Given the description of an element on the screen output the (x, y) to click on. 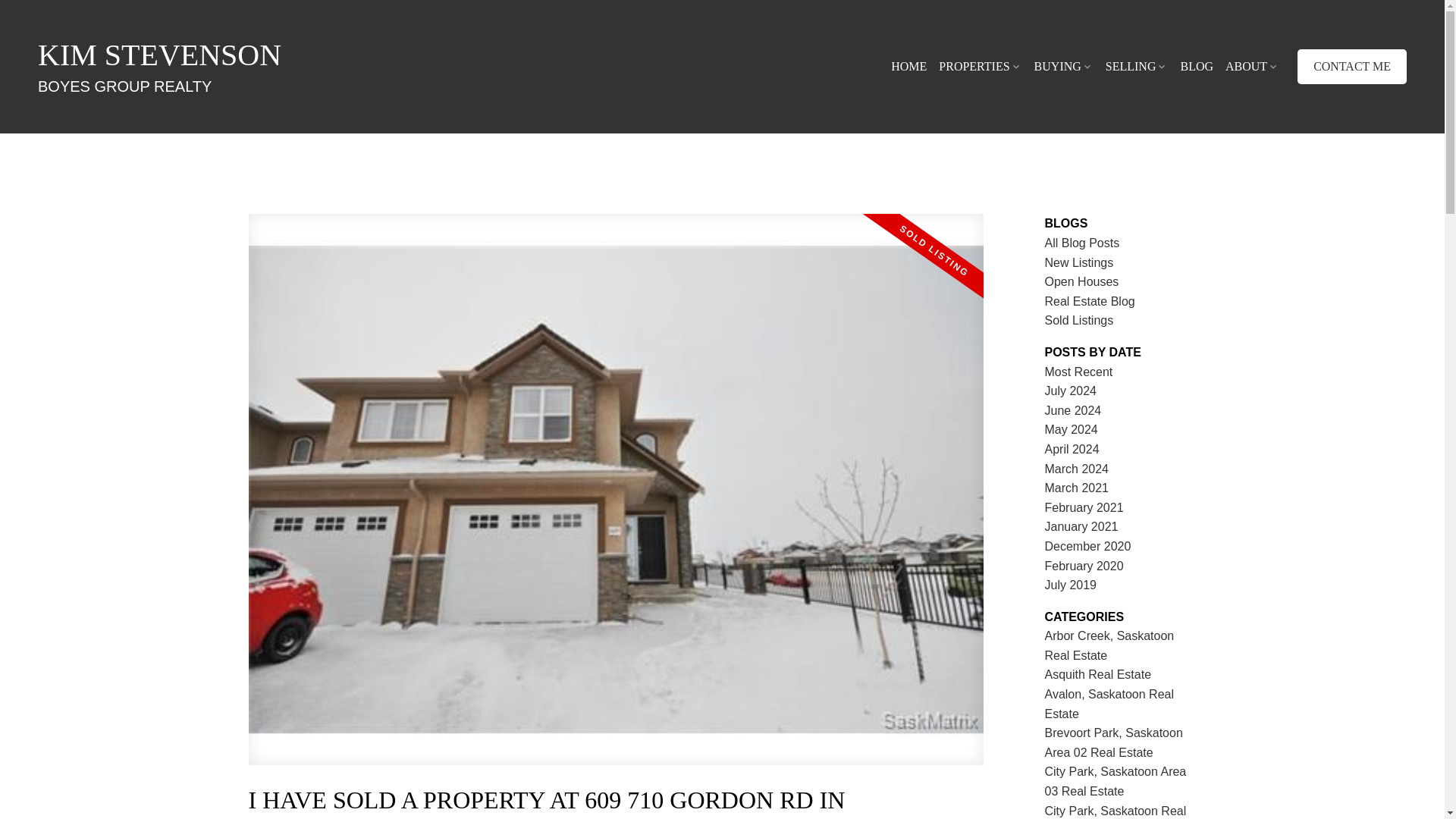
February 2021 (1084, 507)
March 2021 (1077, 487)
March 2024 (304, 66)
May 2024 (1077, 468)
Open Houses (1071, 429)
HOME (1082, 281)
June 2024 (908, 66)
December 2020 (1073, 410)
CONTACT ME (1088, 545)
April 2024 (1351, 66)
January 2021 (1072, 449)
February 2020 (1081, 526)
July 2024 (1084, 565)
New Listings (1071, 390)
